Given the description of an element on the screen output the (x, y) to click on. 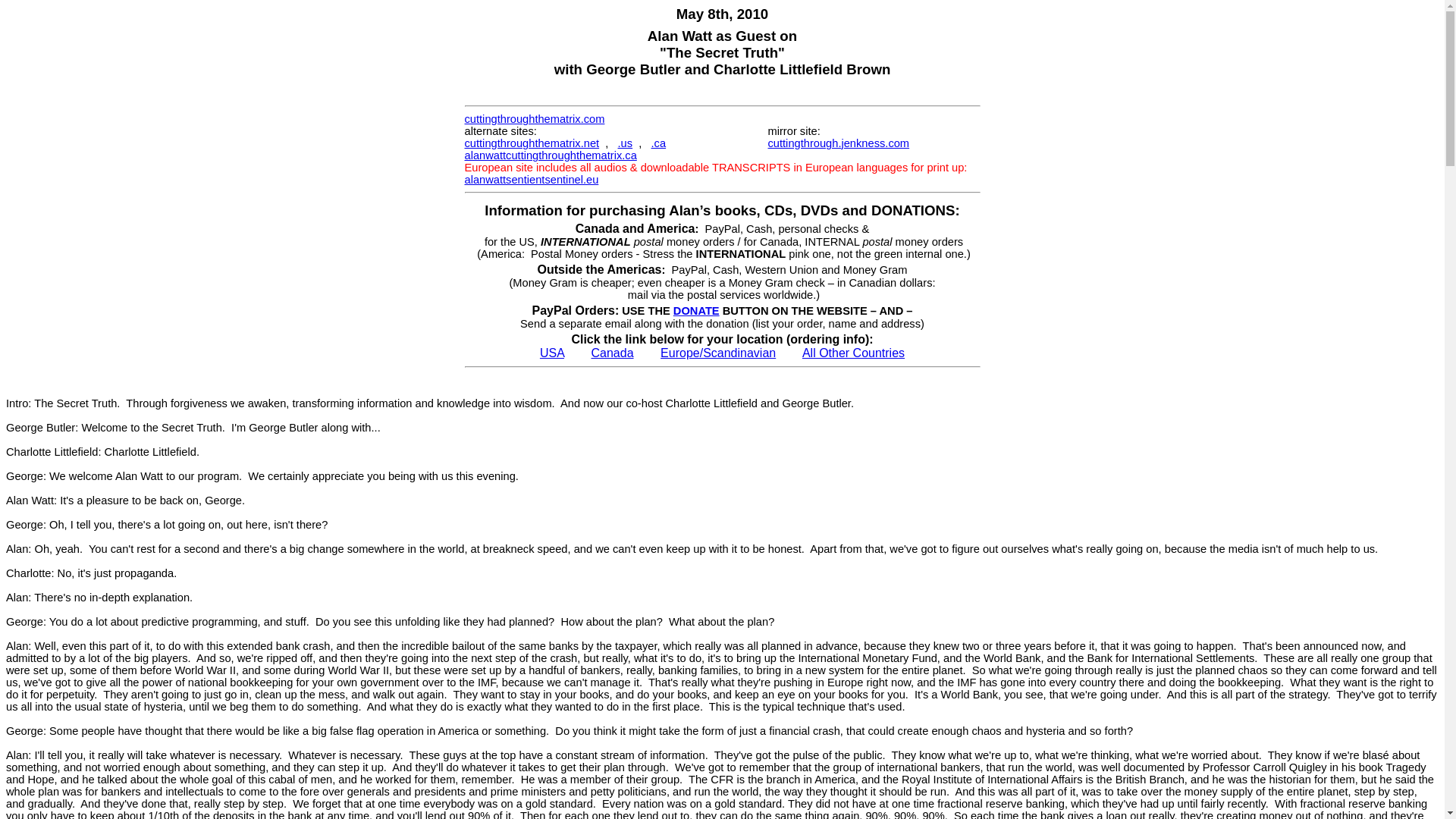
.ca (658, 143)
alanwattsentientsentinel.eu (531, 179)
USA (552, 352)
All Other Countries (853, 352)
alanwattcuttingthroughthematrix.ca (550, 155)
.us (625, 143)
Canada (612, 352)
cuttingthroughthematrix.net (531, 143)
DONATE (695, 310)
cuttingthroughthematrix.com (534, 119)
cuttingthrough.jenkness.com (837, 143)
